Given the description of an element on the screen output the (x, y) to click on. 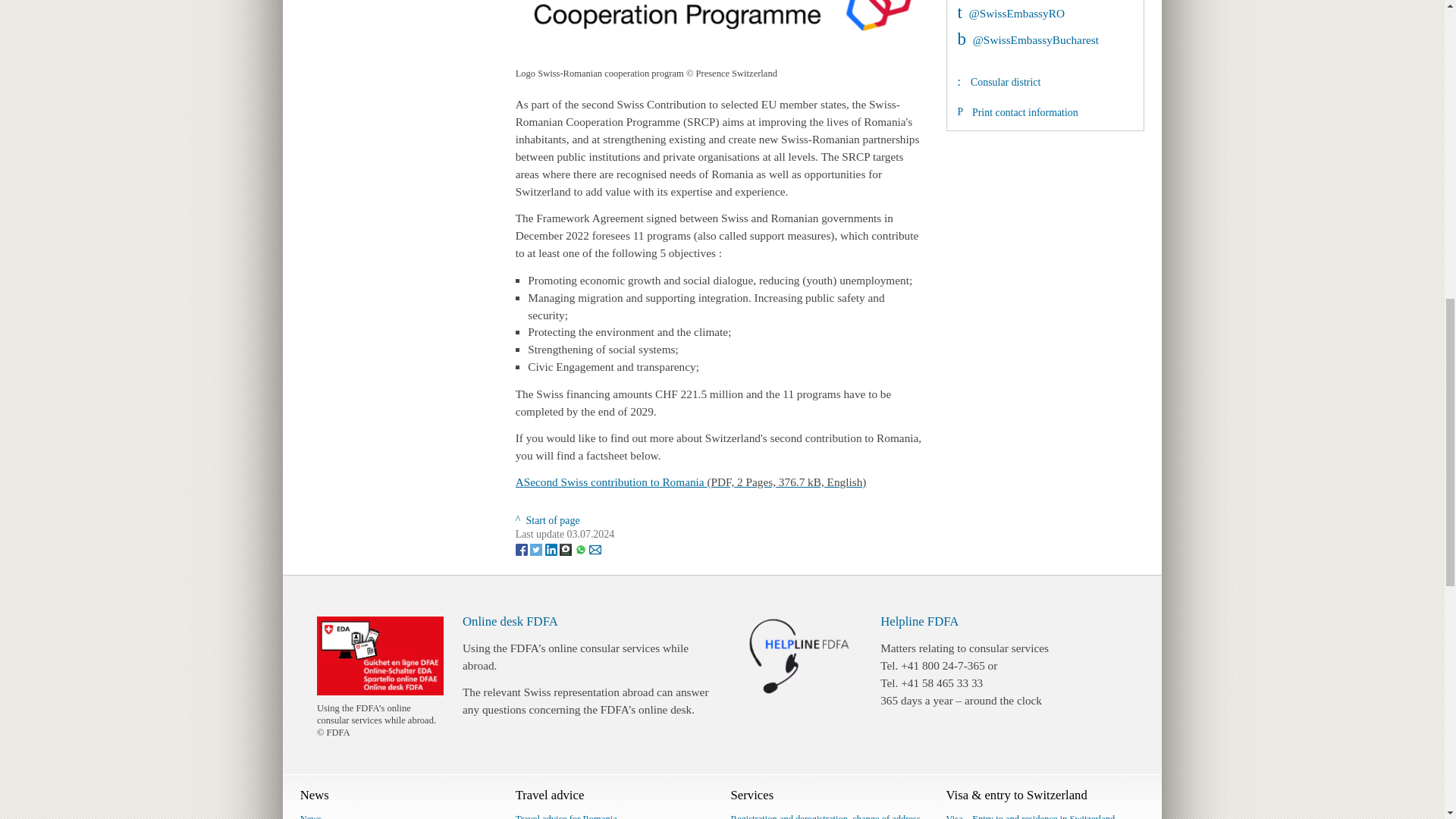
External Link (1010, 12)
External Link (1027, 39)
